Given the description of an element on the screen output the (x, y) to click on. 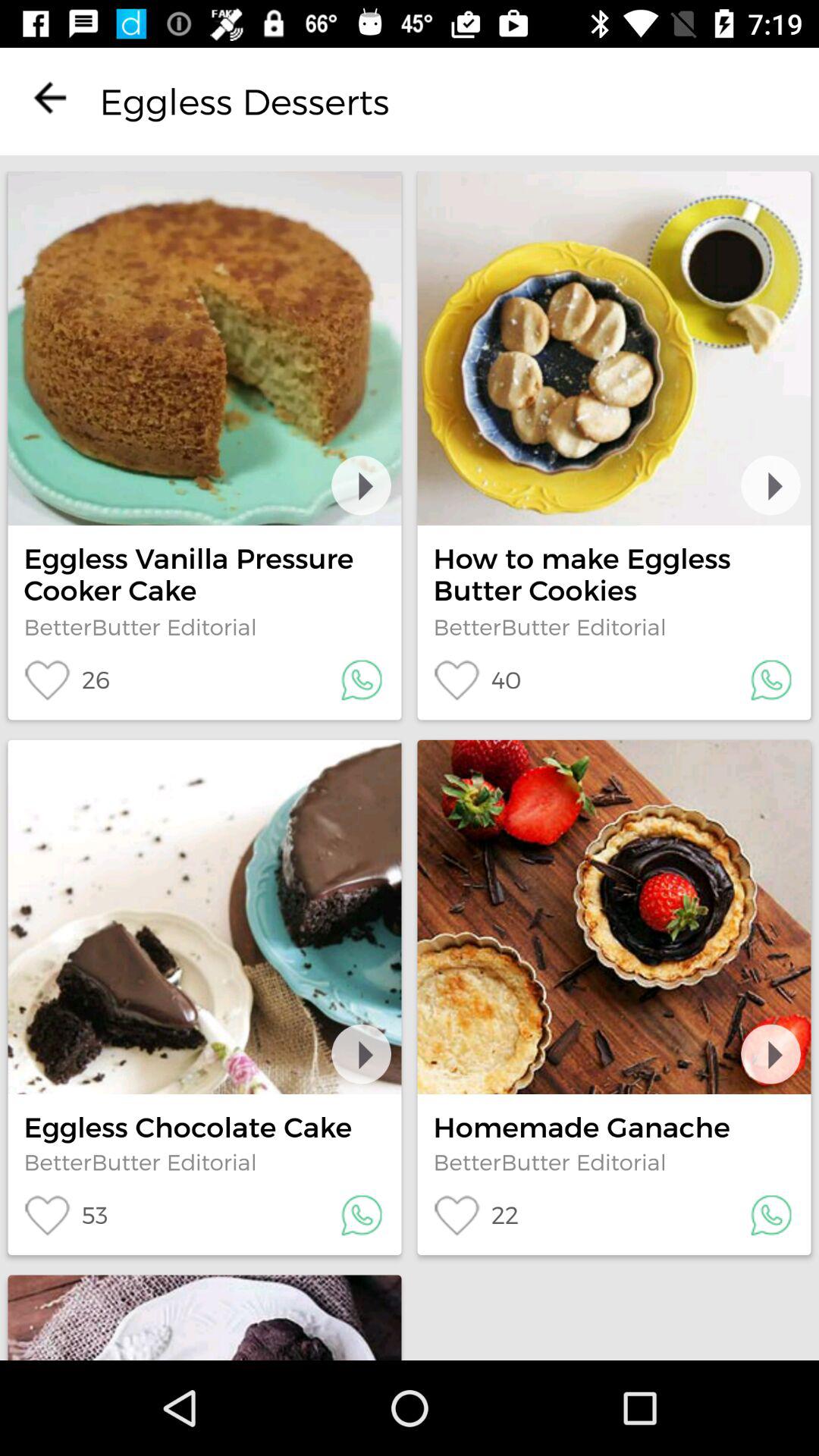
flip to 53 (65, 1215)
